Given the description of an element on the screen output the (x, y) to click on. 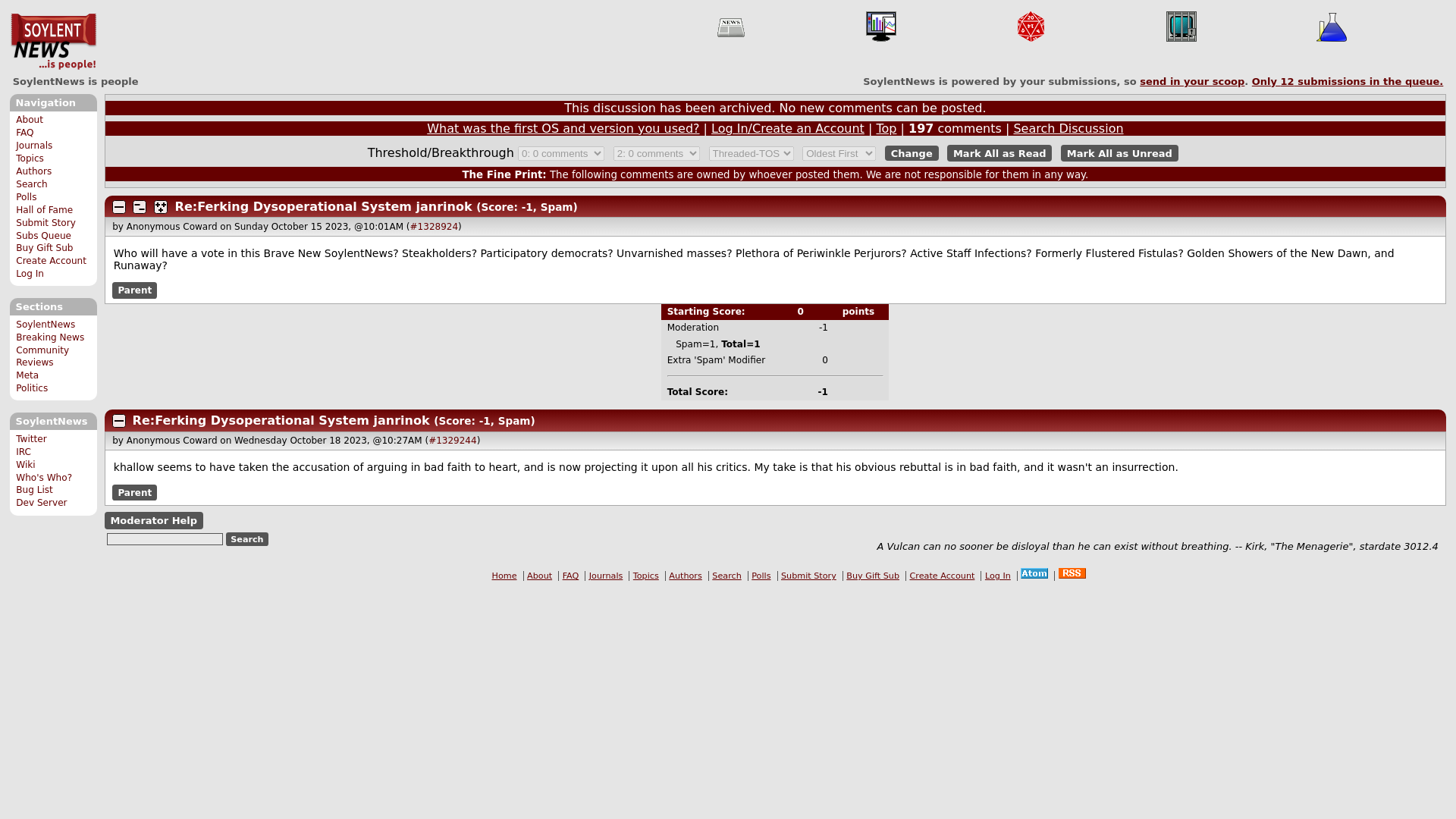
Hall of Fame (44, 209)
Topics (29, 158)
send in your scoop (1192, 81)
Submit Story (45, 222)
SoylentNews (45, 324)
News (730, 26)
What was the first OS and version you used? (562, 128)
Buy Gift Sub (44, 247)
Dev Server (41, 502)
Community Reviews (42, 356)
